Given the description of an element on the screen output the (x, y) to click on. 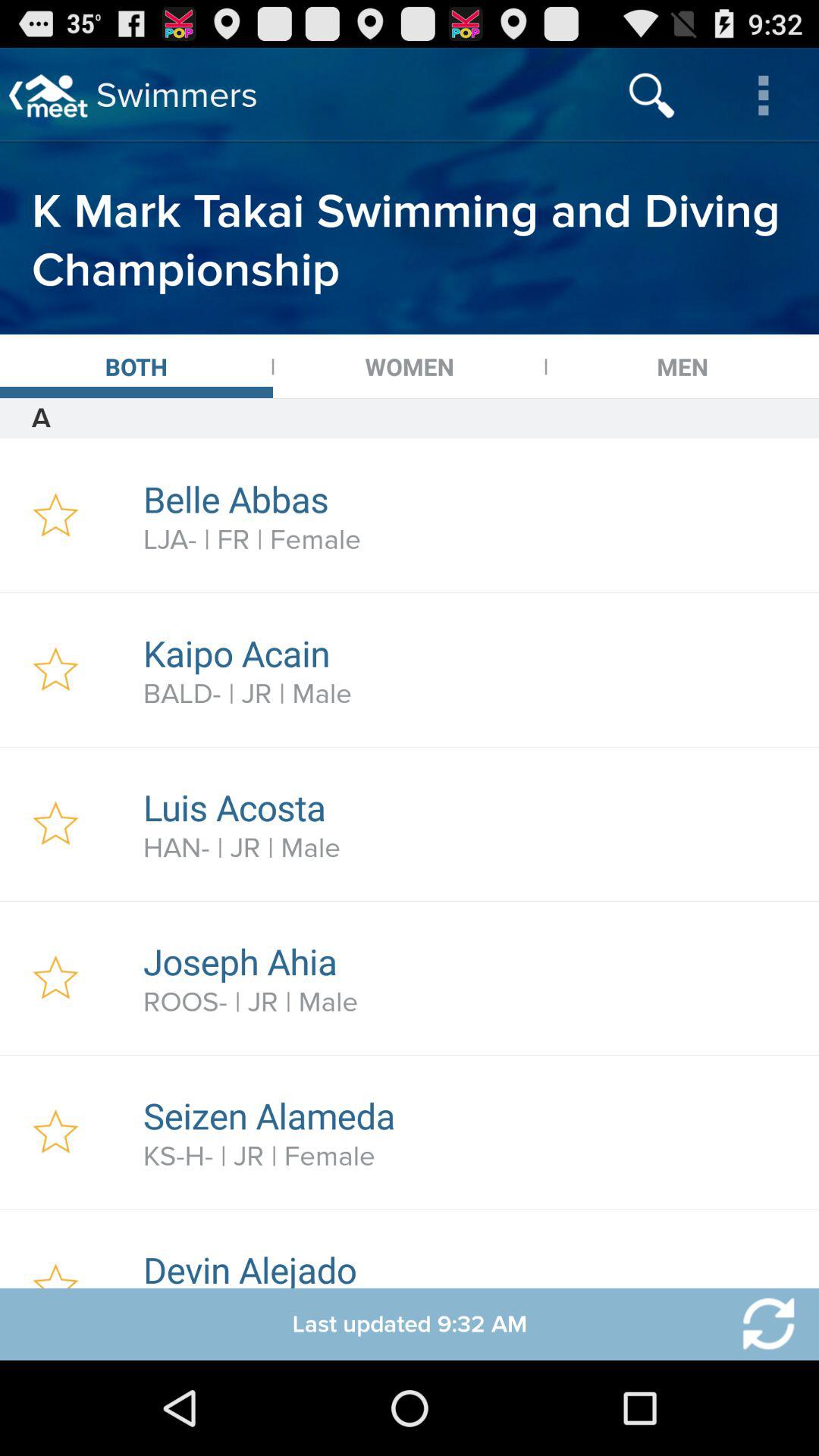
this button is used to choose the favorite name (55, 823)
